Given the description of an element on the screen output the (x, y) to click on. 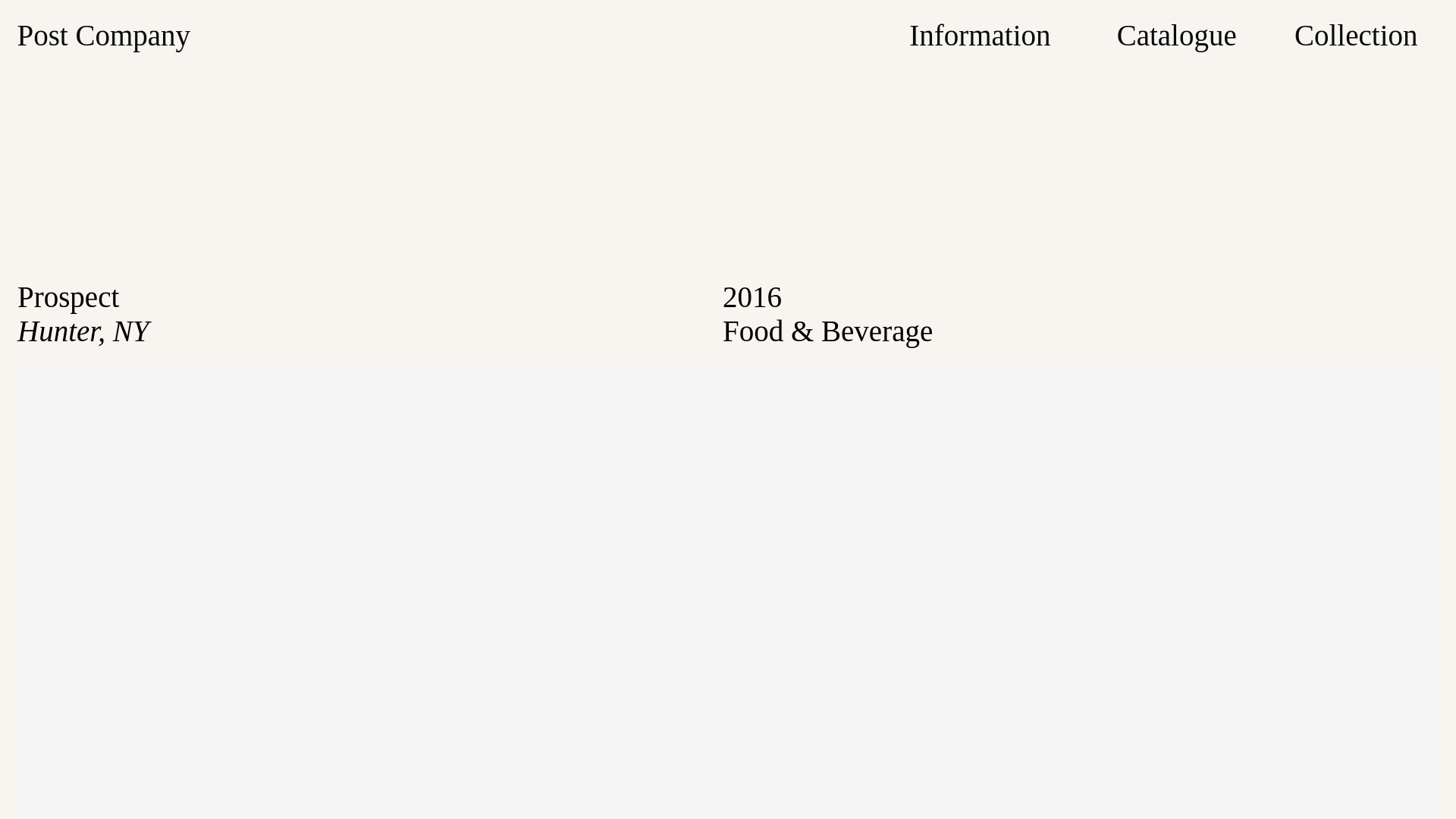
Collection (1355, 34)
Catalogue (1176, 34)
Information (978, 34)
Post Company (103, 35)
